Given the description of an element on the screen output the (x, y) to click on. 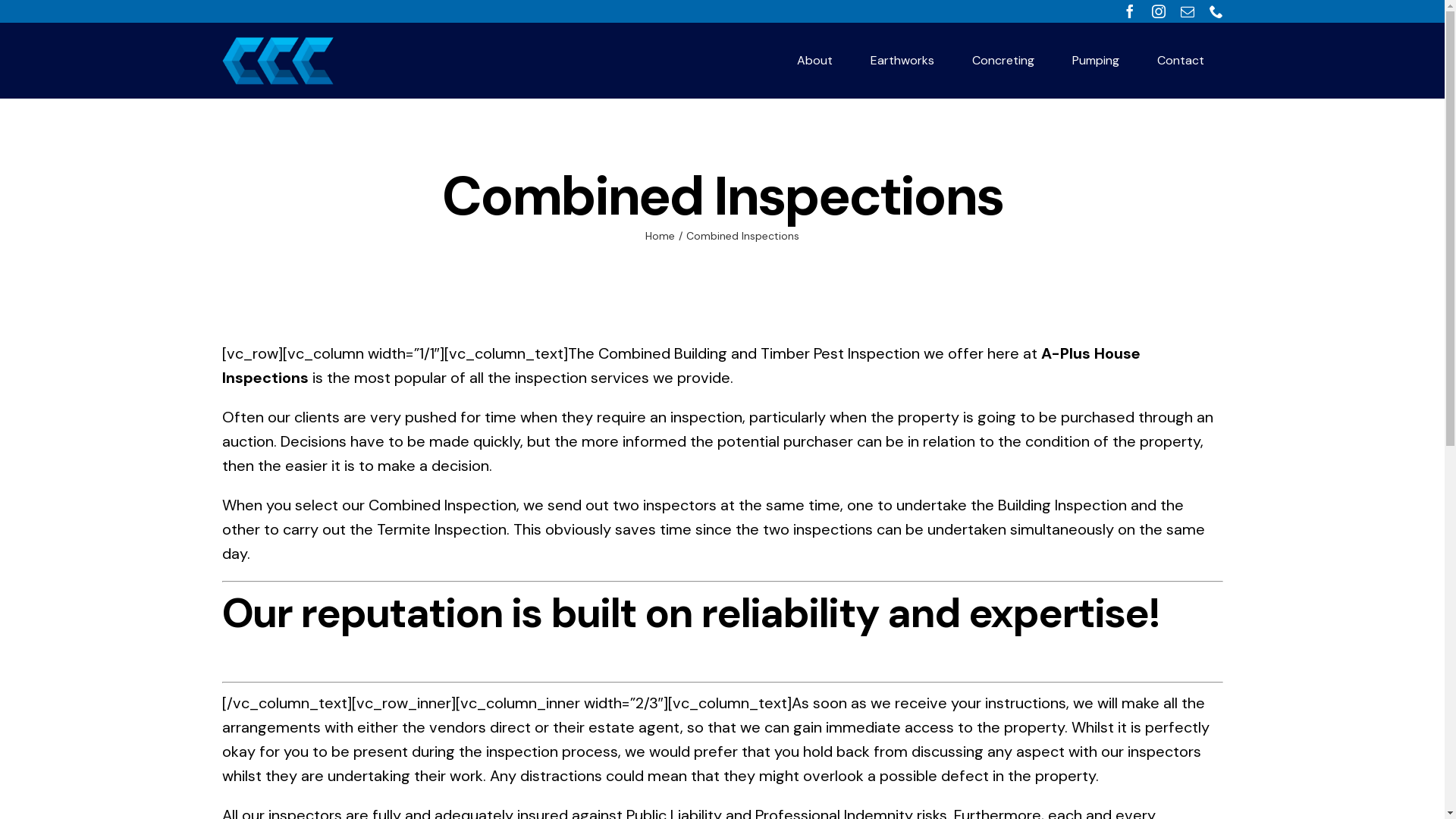
Home Element type: text (659, 235)
About Element type: text (814, 60)
Earthworks Element type: text (902, 60)
Concreting Element type: text (1003, 60)
Contact Element type: text (1180, 60)
Pumping Element type: text (1095, 60)
